Given the description of an element on the screen output the (x, y) to click on. 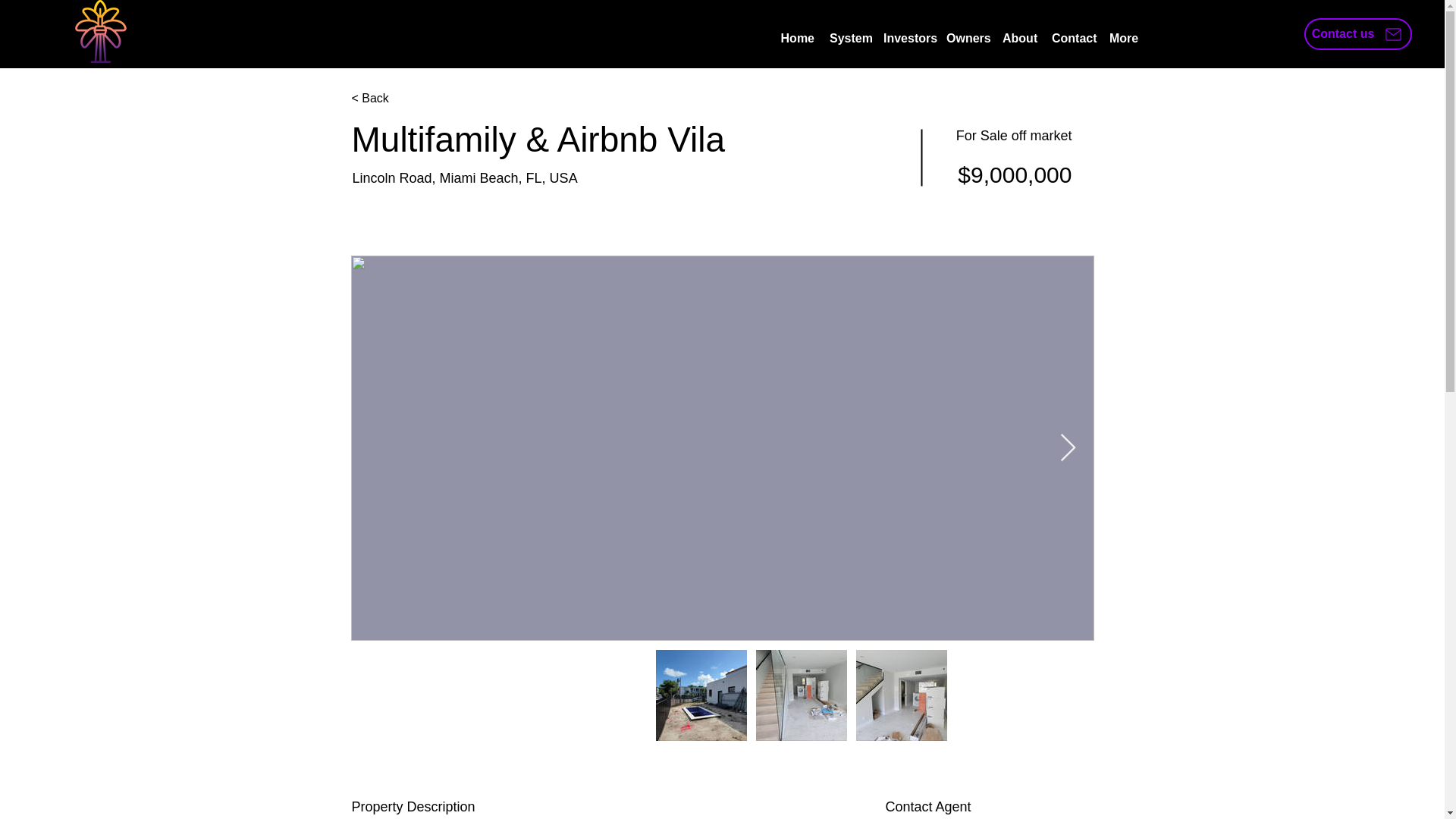
About (1018, 38)
Contact (1072, 38)
Contact us (1358, 33)
Owners (966, 38)
Investors (907, 38)
System (849, 38)
Home (797, 38)
